Given the description of an element on the screen output the (x, y) to click on. 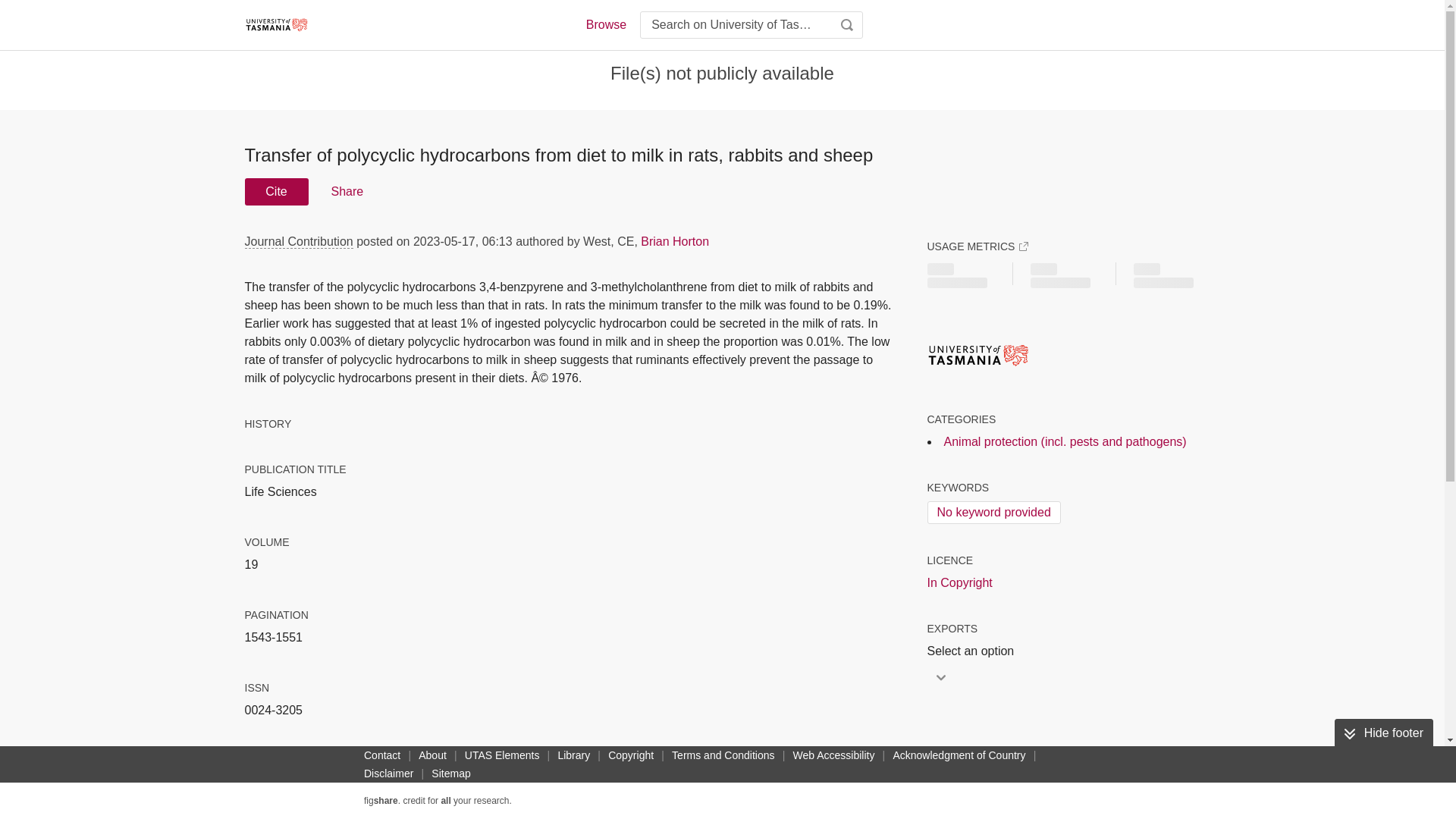
Disclaimer (388, 773)
UTAS Elements (502, 755)
No keyword provided (992, 512)
Brian Horton (674, 241)
Share (346, 191)
Copyright (631, 755)
Browse (605, 24)
Terms and Conditions (722, 755)
Hide footer (1383, 733)
USAGE METRICS (976, 246)
About (432, 755)
Acknowledgment of Country (958, 755)
Web Accessibility (834, 755)
Select an option (974, 651)
Contact (381, 755)
